Given the description of an element on the screen output the (x, y) to click on. 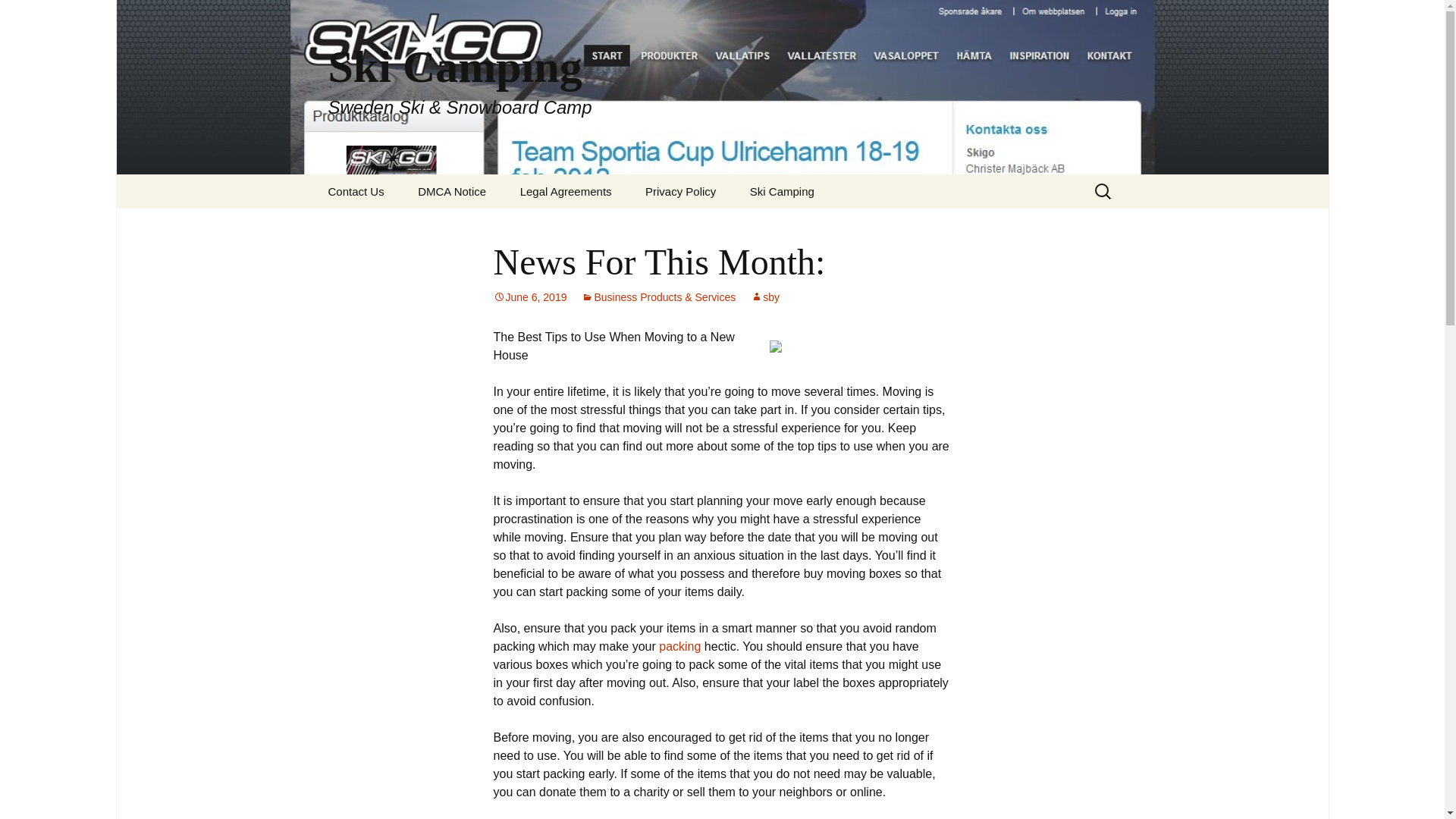
DMCA Notice (451, 191)
June 6, 2019 (529, 297)
sby (764, 297)
Search (34, 15)
packing (679, 645)
View all posts by sby (764, 297)
Contact Us (355, 191)
Legal Agreements (566, 191)
Permalink to News For This Month: (529, 297)
